Given the description of an element on the screen output the (x, y) to click on. 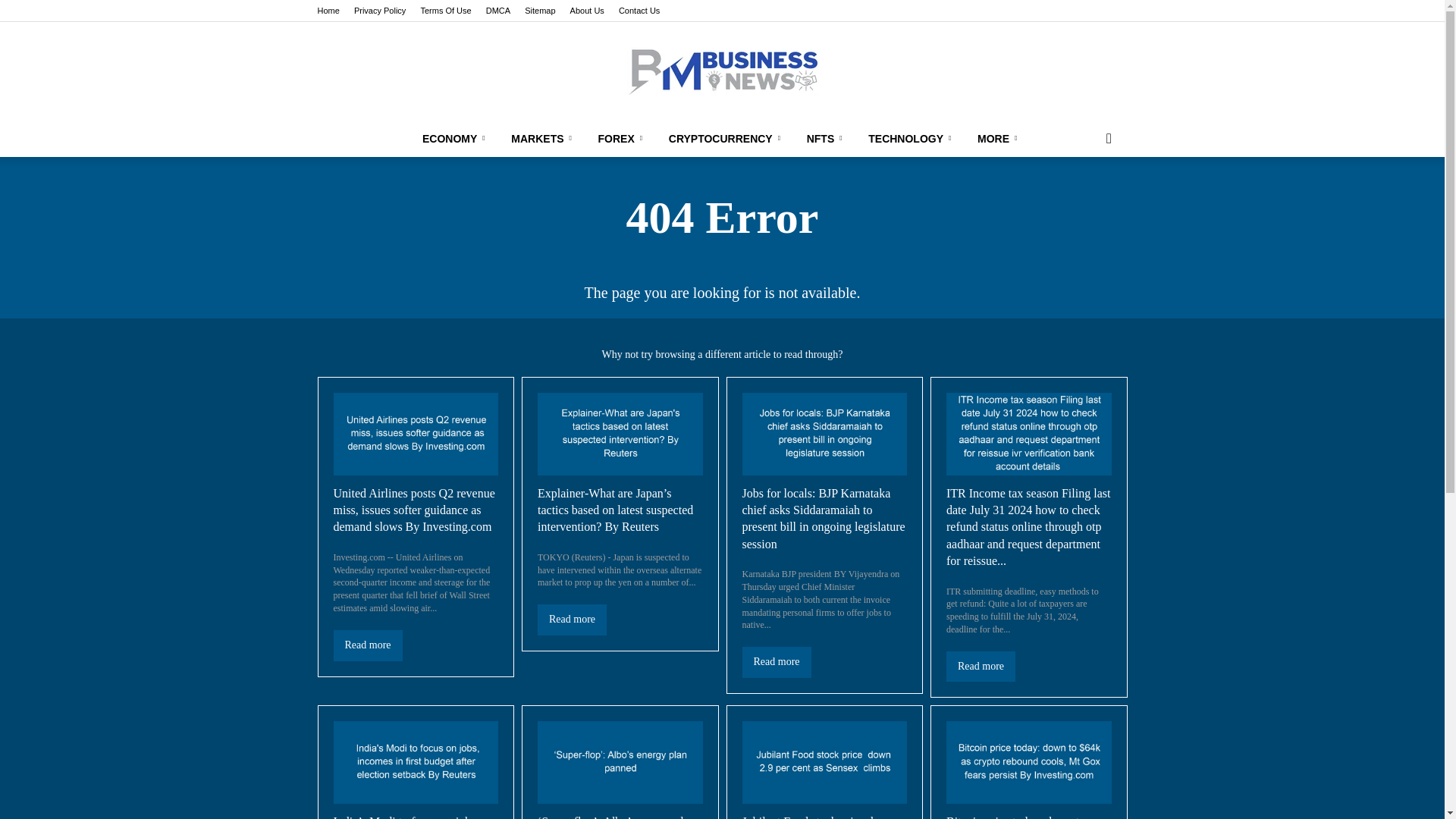
Contact Us (638, 10)
ECONOMY (456, 138)
Home (328, 10)
Terms Of Use (445, 10)
Sitemap (539, 10)
Privacy Policy (379, 10)
About Us (587, 10)
MARKETS (543, 138)
DMCA (498, 10)
